Given the description of an element on the screen output the (x, y) to click on. 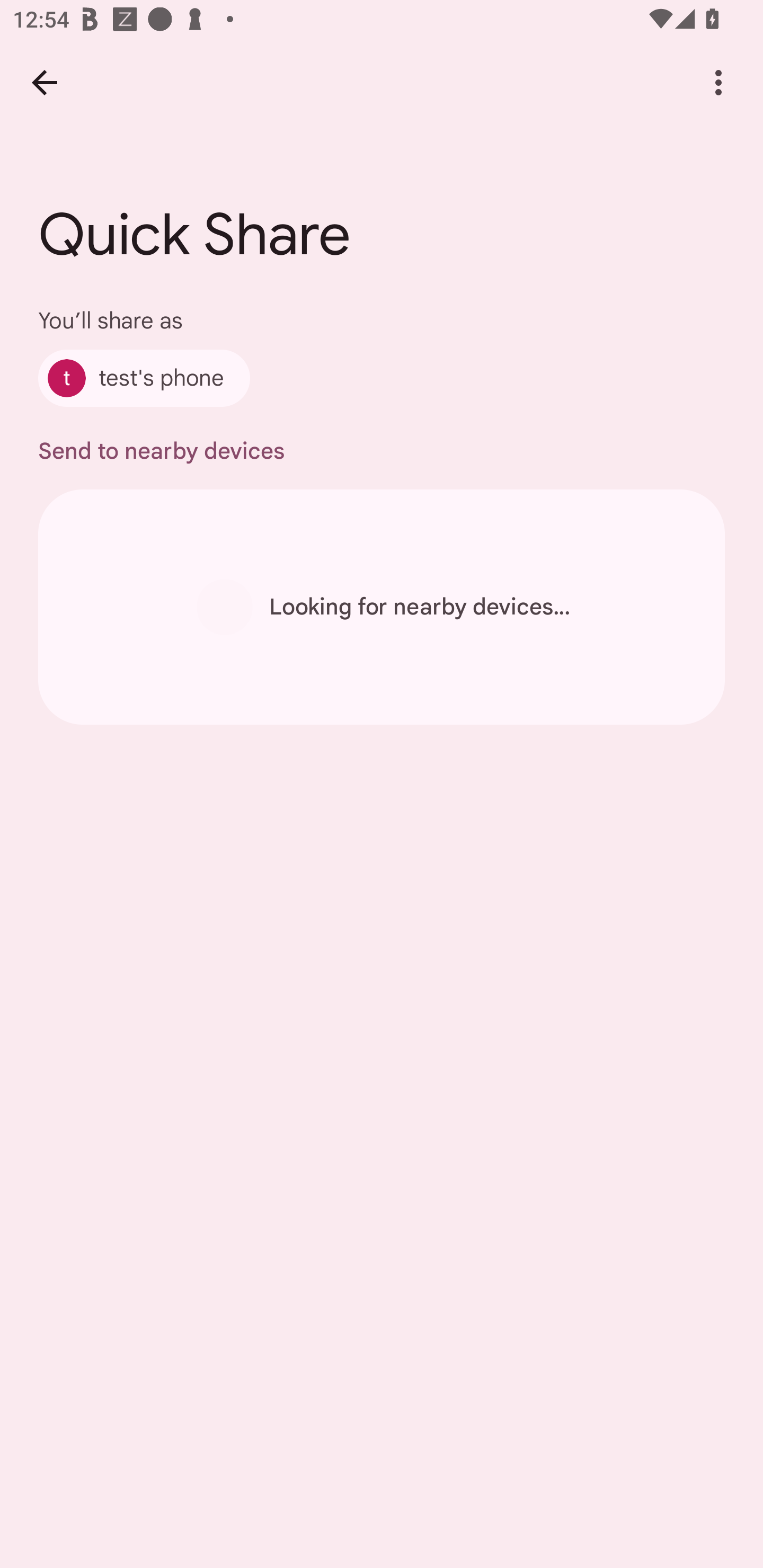
Back (44, 81)
More (718, 81)
test's phone (144, 378)
